Given the description of an element on the screen output the (x, y) to click on. 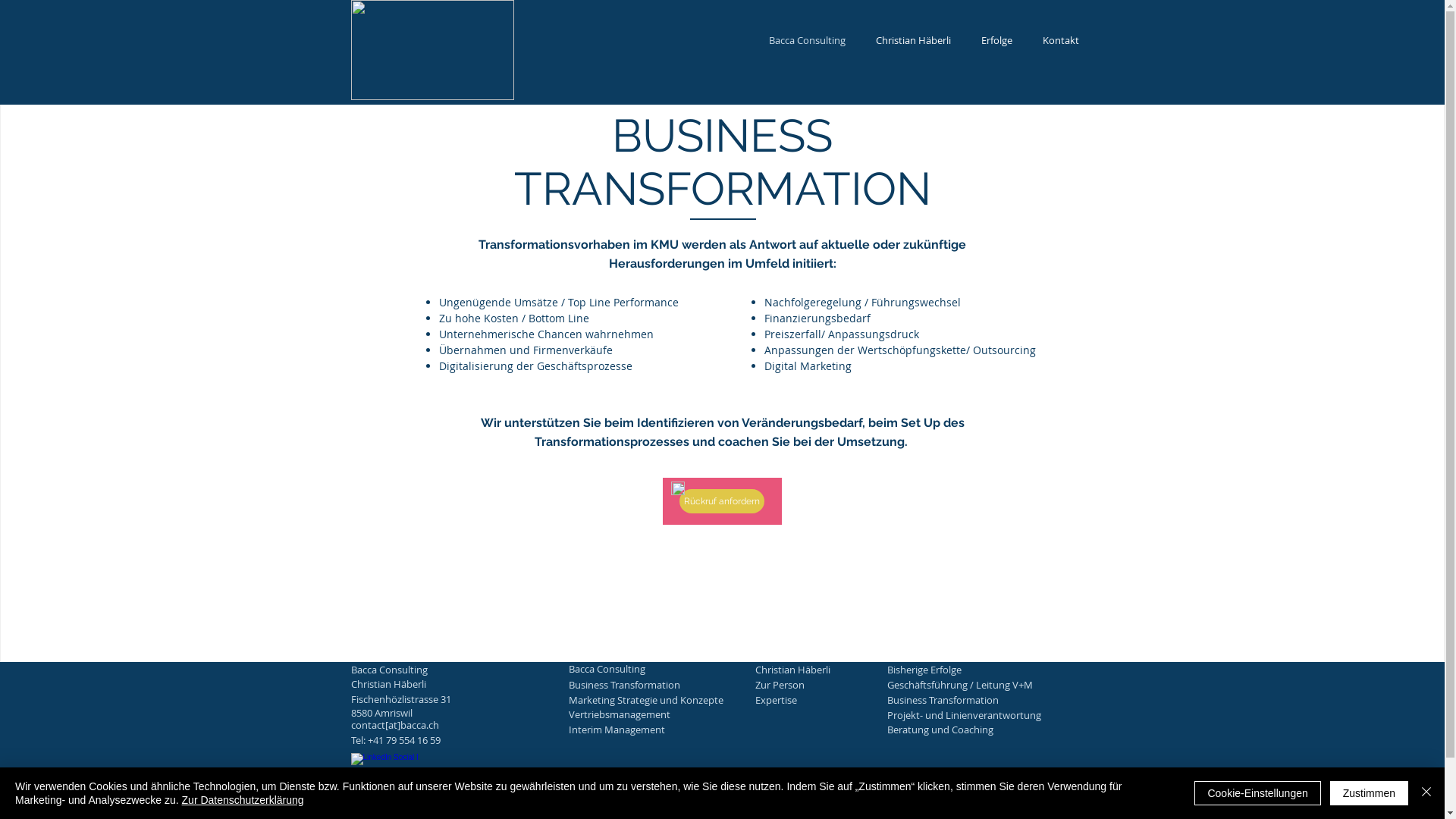
8580 Amriswil Element type: text (428, 712)
Impressum Element type: text (538, 805)
Interim Management Element type: text (646, 729)
Zustimmen Element type: text (1369, 793)
Kontakt Element type: text (1059, 39)
Datenschutz Element type: text (610, 805)
Zur Person Element type: text (833, 684)
contact[at]bacca.ch Element type: text (428, 724)
Bisherige Erfolge Element type: text (965, 669)
Beratung und Coaching Element type: text (965, 729)
Vertriebsmanagement Element type: text (646, 713)
Tel: +41 79 554 16 59 Element type: text (428, 739)
Business Transformation Element type: text (646, 684)
Erfolge Element type: text (996, 39)
Bacca Consulting Element type: text (428, 669)
Cookie-Einstellungen Element type: text (1257, 793)
Expertise Element type: text (833, 699)
Bacca Consulting Element type: text (646, 668)
Projekt- und Linienverantwortung Element type: text (965, 714)
Marketing Strategie und Konzepte Element type: text (646, 699)
Bacca Consulting Element type: text (806, 39)
Business Transformation Element type: text (965, 699)
